Given the description of an element on the screen output the (x, y) to click on. 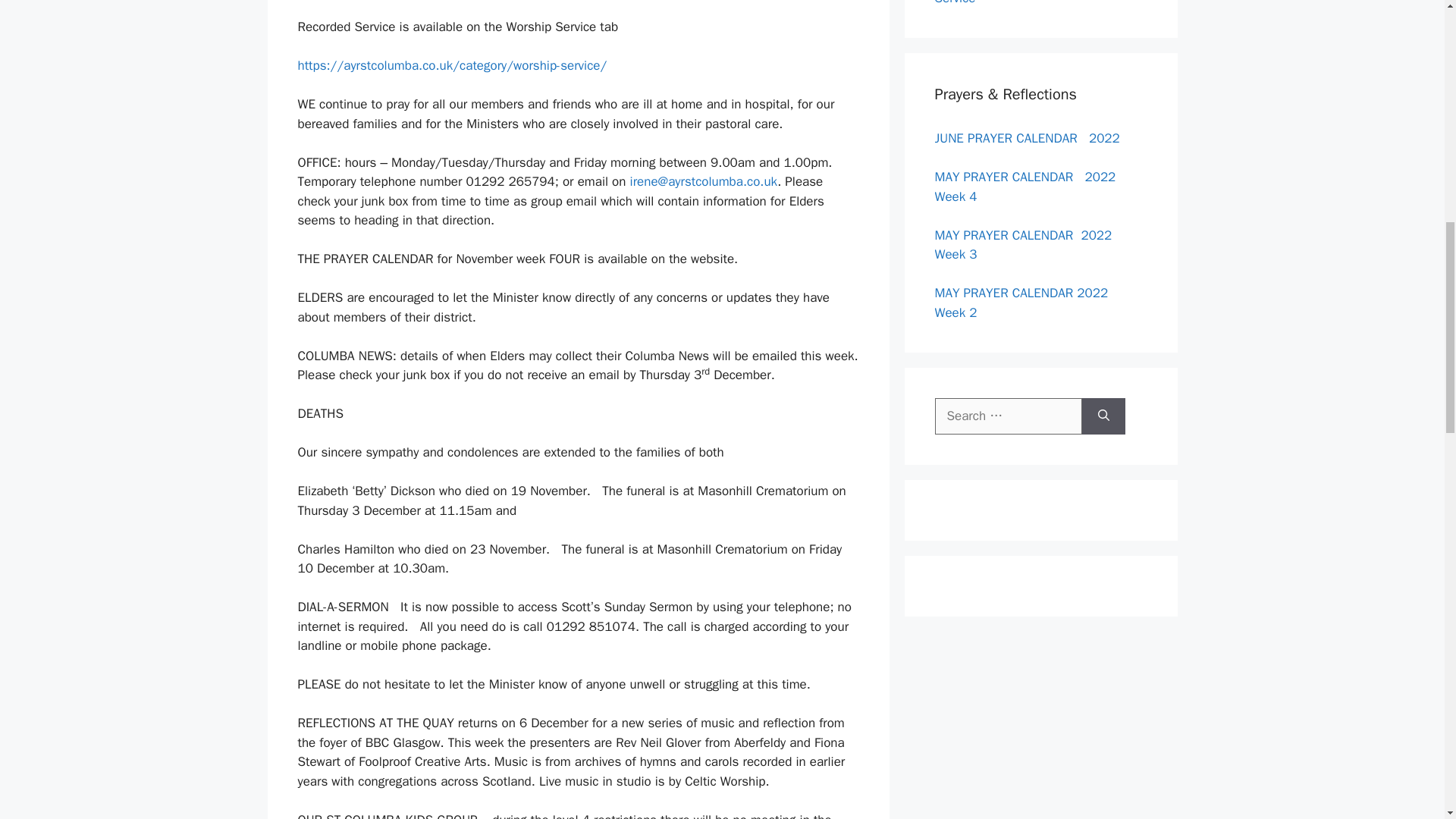
Search for: (1007, 416)
